Given the description of an element on the screen output the (x, y) to click on. 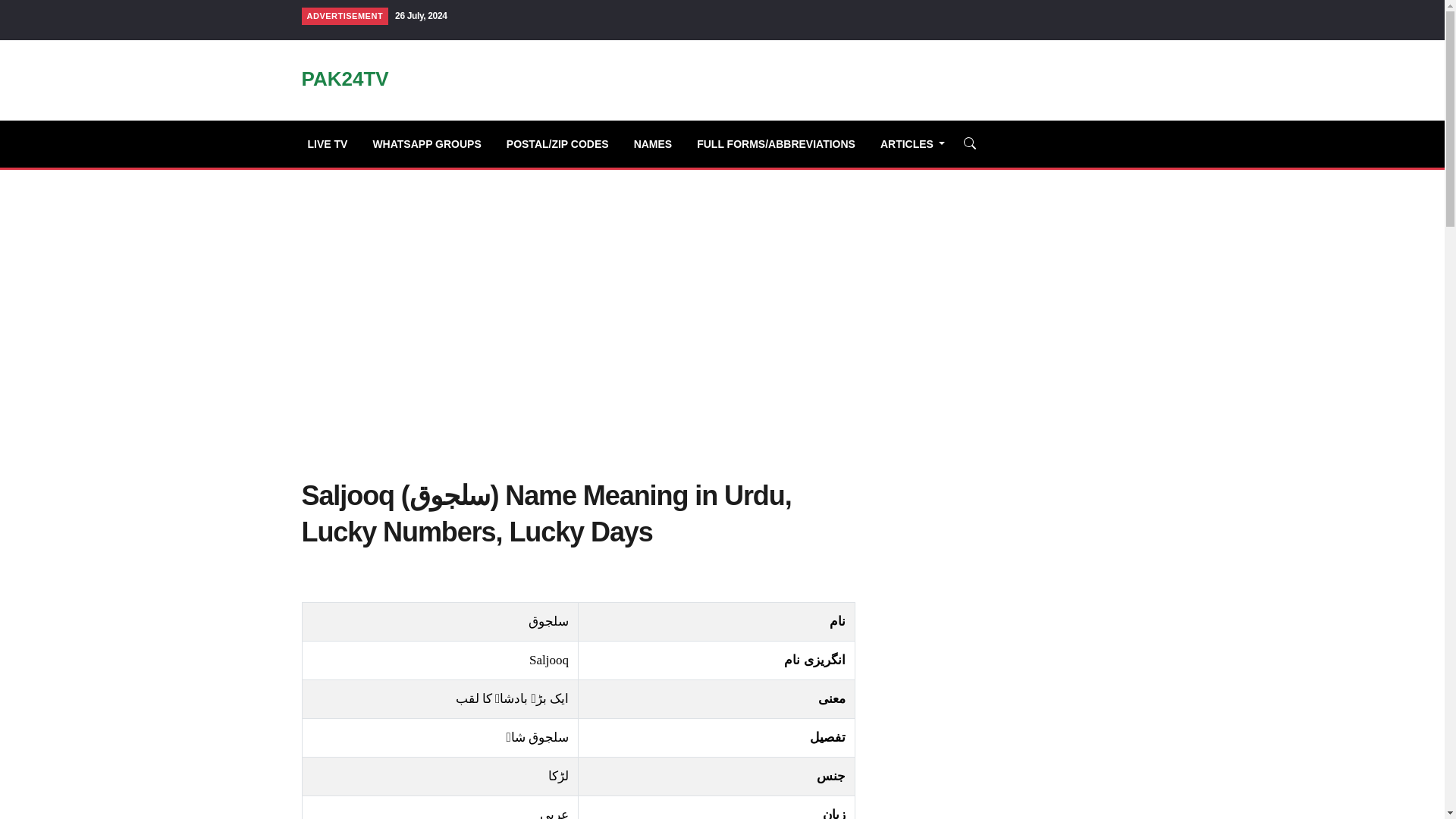
WHATSAPP GROUPS (432, 143)
ADVERTISEMENT (344, 16)
PAK24TV (344, 81)
NAMES (659, 143)
Advertisement (1009, 591)
ARTICLES (919, 143)
26 July, 2024 (420, 15)
LIVE TV (333, 143)
